Given the description of an element on the screen output the (x, y) to click on. 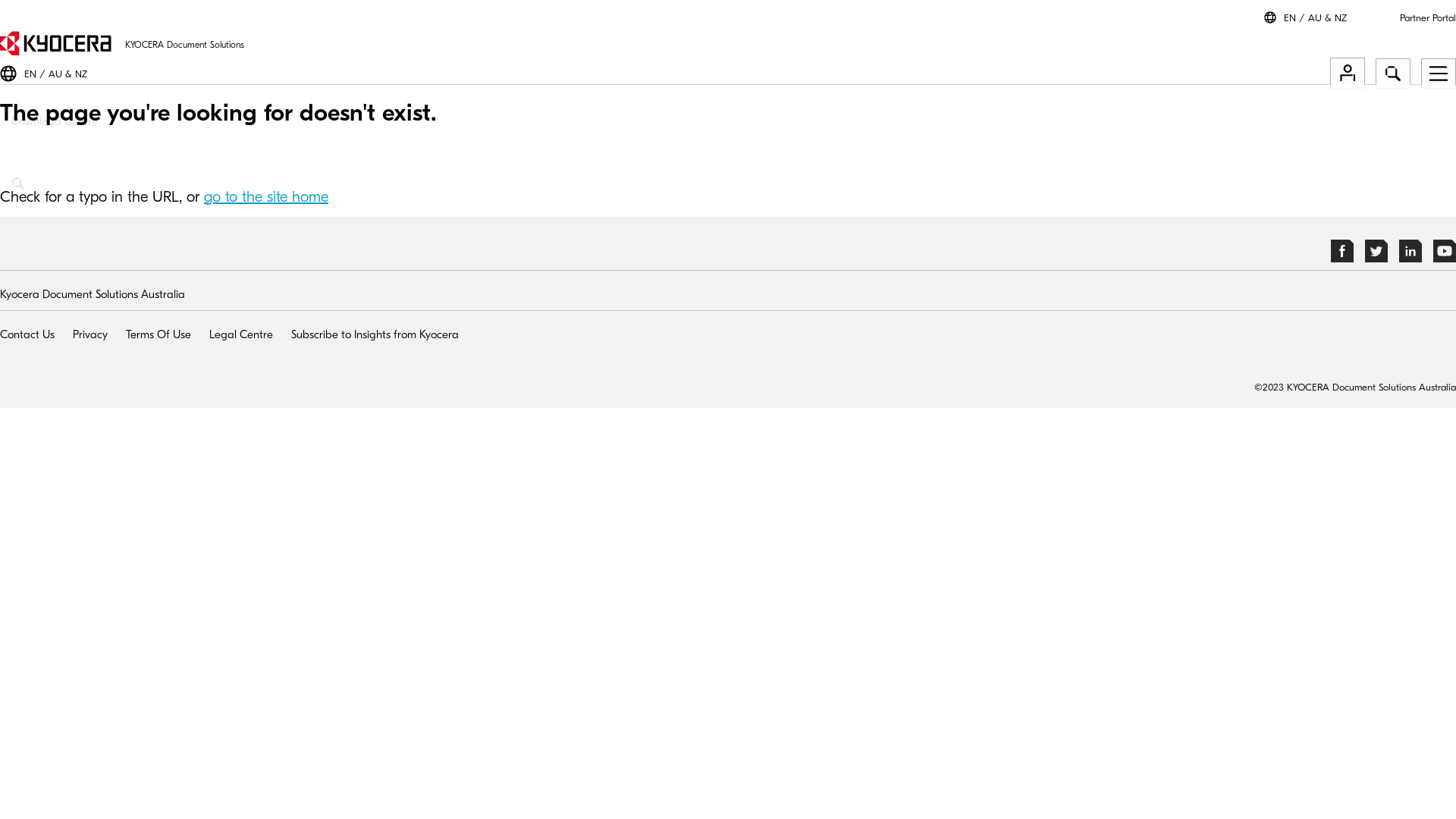
EN / AU & NZ Element type: text (1314, 17)
Legal Centre Element type: text (241, 334)
LinkedIn Element type: hover (1410, 258)
Privacy Element type: text (89, 334)
EN / AU & NZ Element type: text (55, 73)
Terms Of Use Element type: text (158, 334)
Kyocera Document Solutions Australia Element type: text (92, 294)
Contact Us Element type: text (27, 334)
go to the site home Element type: text (265, 196)
Twitter Element type: hover (1376, 258)
Subscribe to Insights from Kyocera Element type: text (374, 334)
Facebook Element type: hover (1341, 258)
Download Centre Element type: text (727, 130)
